Given the description of an element on the screen output the (x, y) to click on. 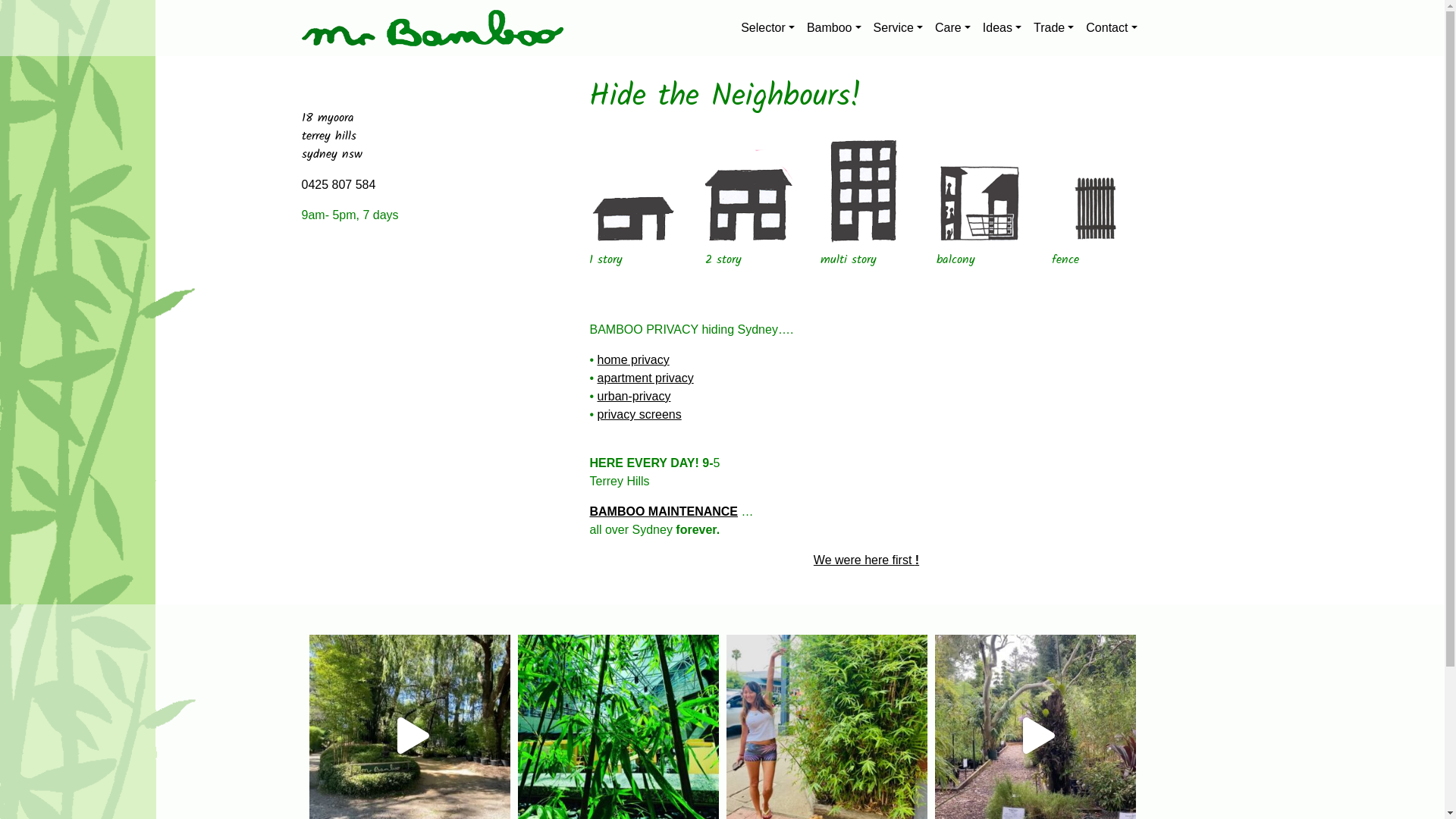
We were here first ! Element type: text (866, 559)
18 myoora
terrey hills
sydney nsw Element type: text (331, 135)
BAMBOO MAINTENANCE Element type: text (663, 511)
Bamboo Element type: text (833, 27)
Trade Element type: text (1053, 27)
0425 807 584 Element type: text (338, 184)
Selector Element type: text (767, 27)
Skip to content Element type: text (1443, 0)
urban-privacy Element type: text (634, 395)
Service Element type: text (897, 27)
Ideas Element type: text (1001, 27)
Care Element type: text (952, 27)
privacy screens Element type: text (639, 413)
home privacy Element type: text (633, 359)
Contact Element type: text (1110, 27)
apartment privacy Element type: text (645, 377)
